Given the description of an element on the screen output the (x, y) to click on. 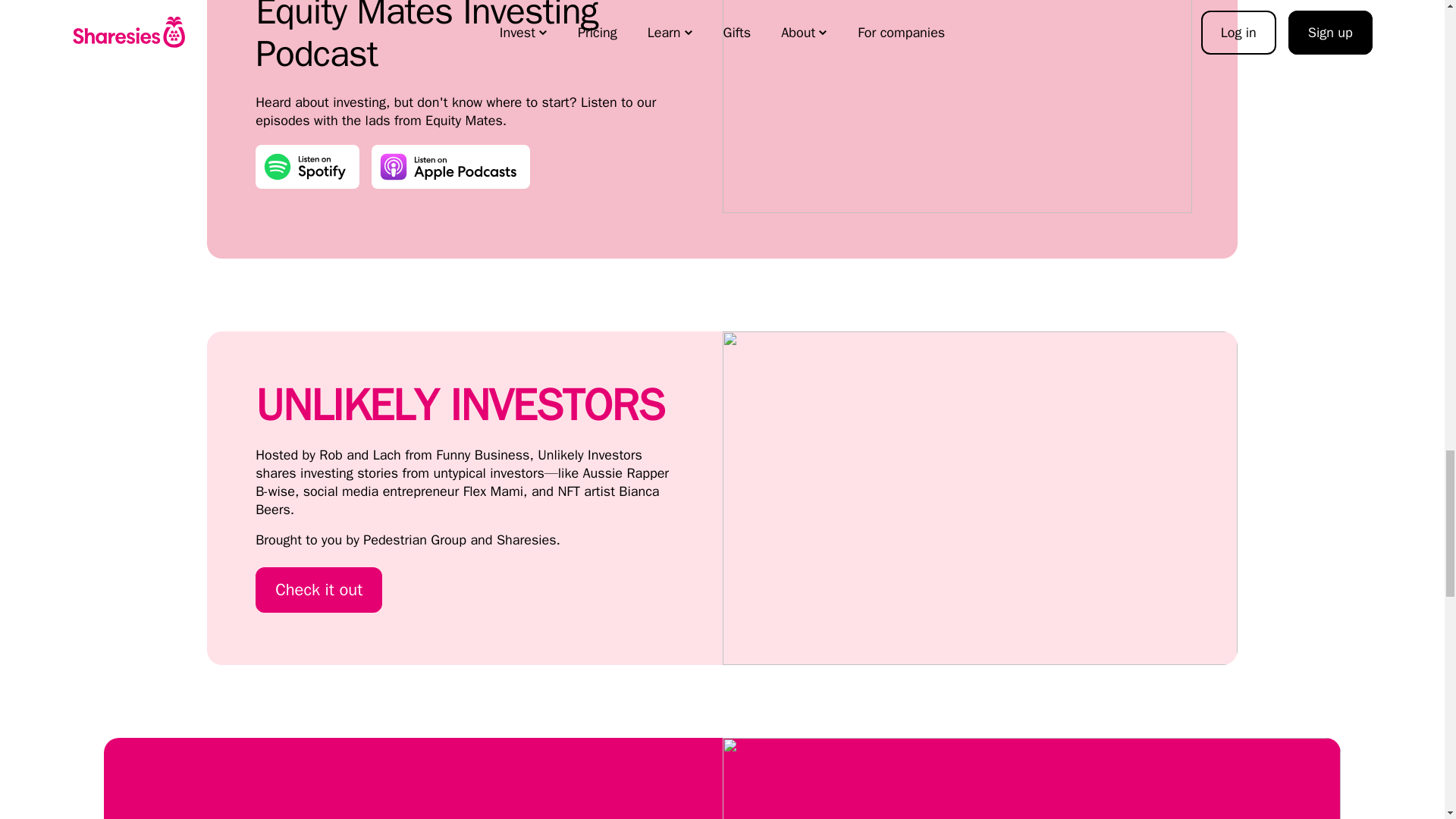
Listen to Equity mates on Apple podcasts (450, 166)
Listen to Equity mates on Spotify (307, 166)
